Given the description of an element on the screen output the (x, y) to click on. 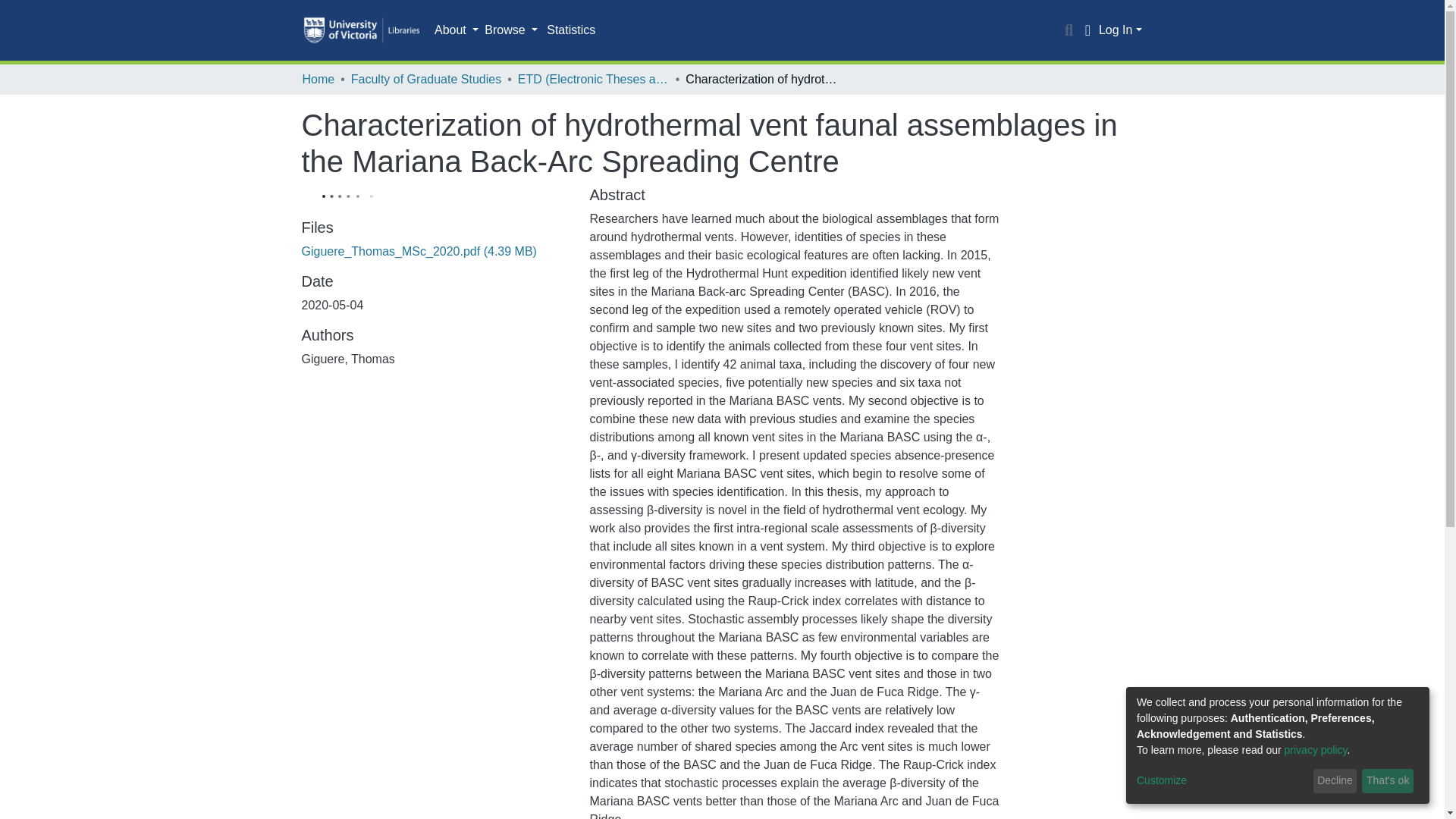
Home (317, 79)
Search (1068, 30)
Statistics (570, 30)
Log In (1119, 29)
Browse (510, 30)
About (455, 30)
Faculty of Graduate Studies (425, 79)
Language switch (1087, 30)
Statistics (570, 30)
